Given the description of an element on the screen output the (x, y) to click on. 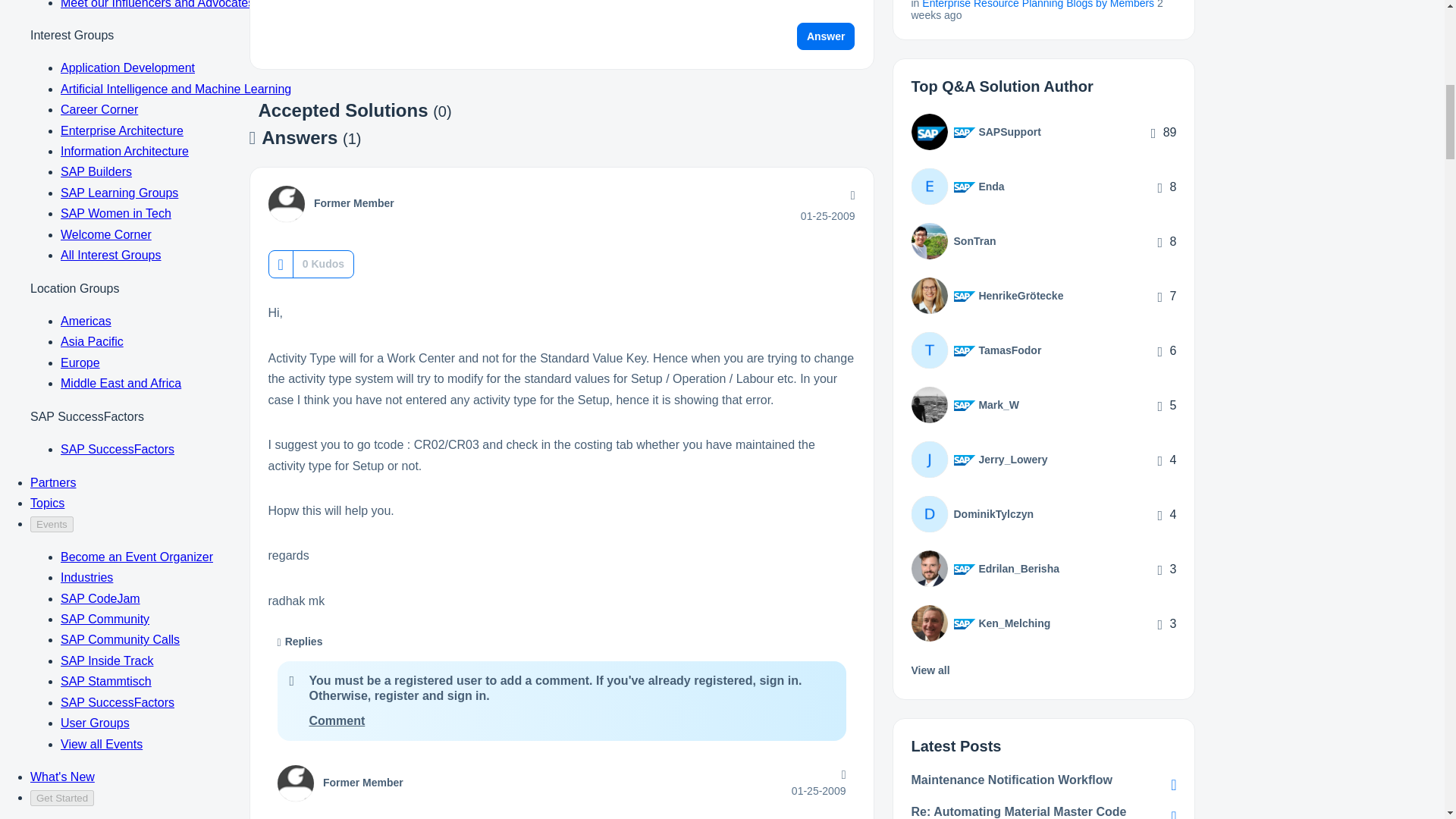
Comment (336, 720)
The total number of kudos this post has received. (323, 263)
Answer (826, 35)
Posted on (828, 215)
